Given the description of an element on the screen output the (x, y) to click on. 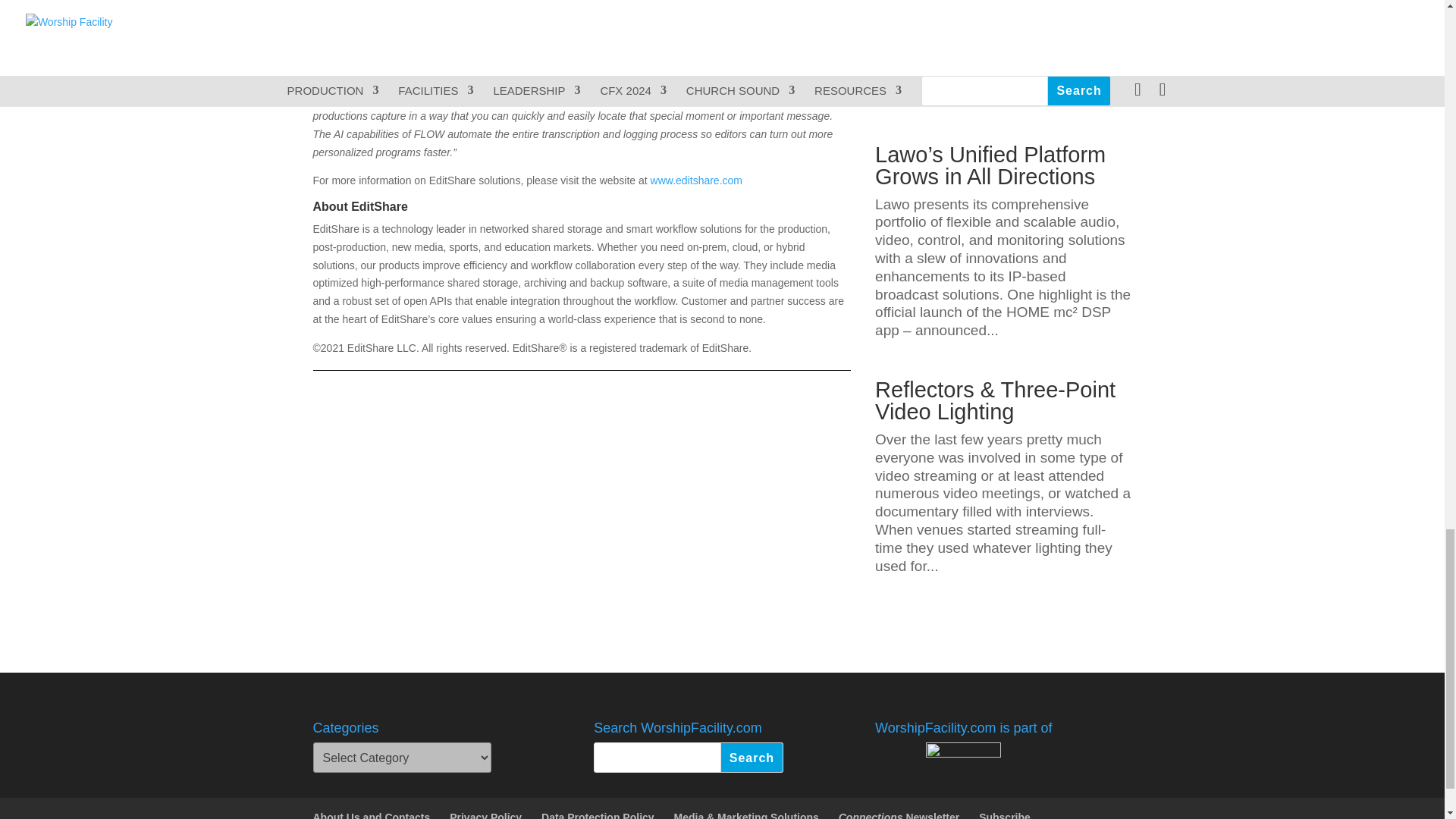
Search (752, 757)
